Given the description of an element on the screen output the (x, y) to click on. 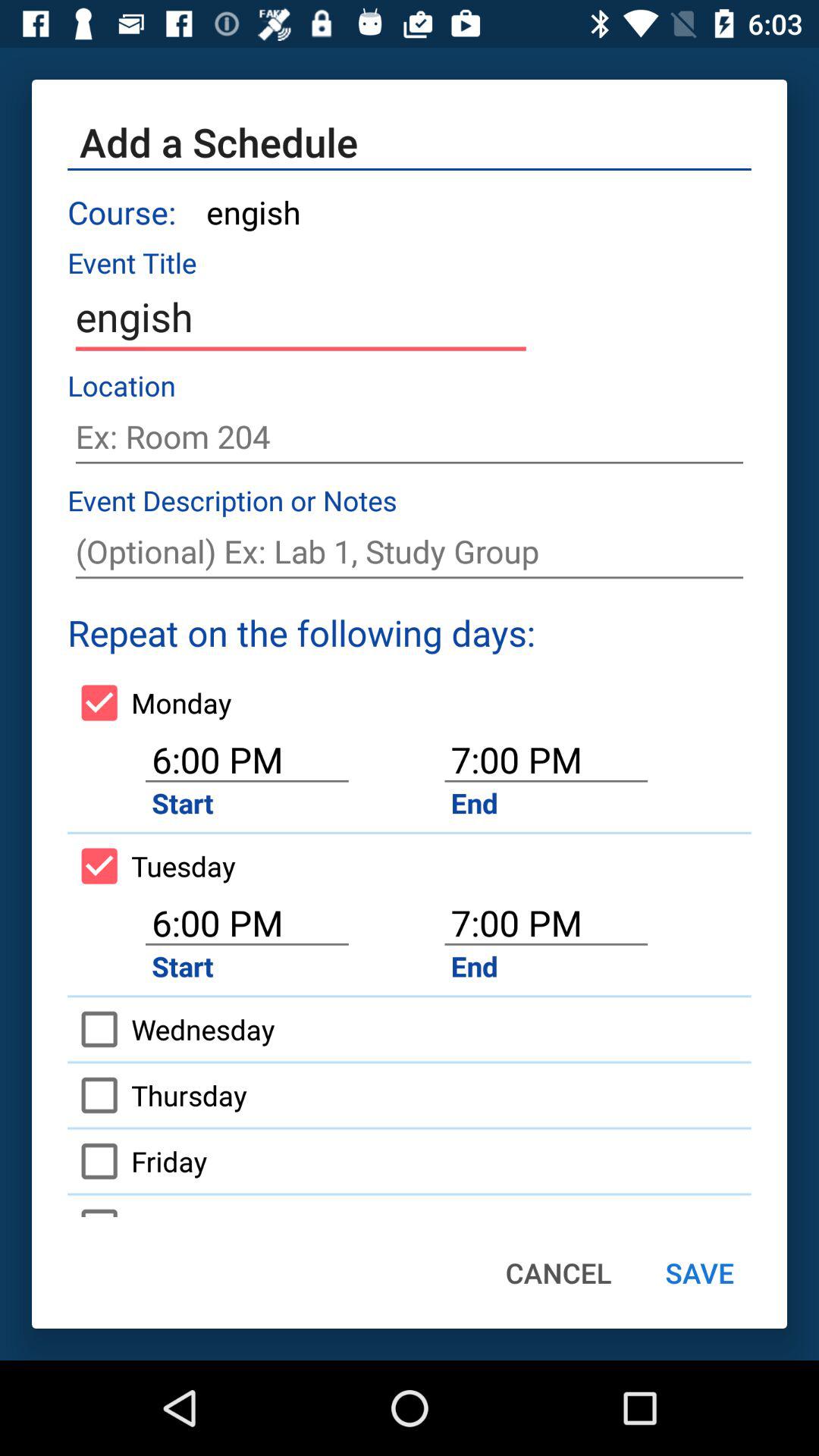
turn on icon next to the 7:00 pm icon (149, 702)
